Given the description of an element on the screen output the (x, y) to click on. 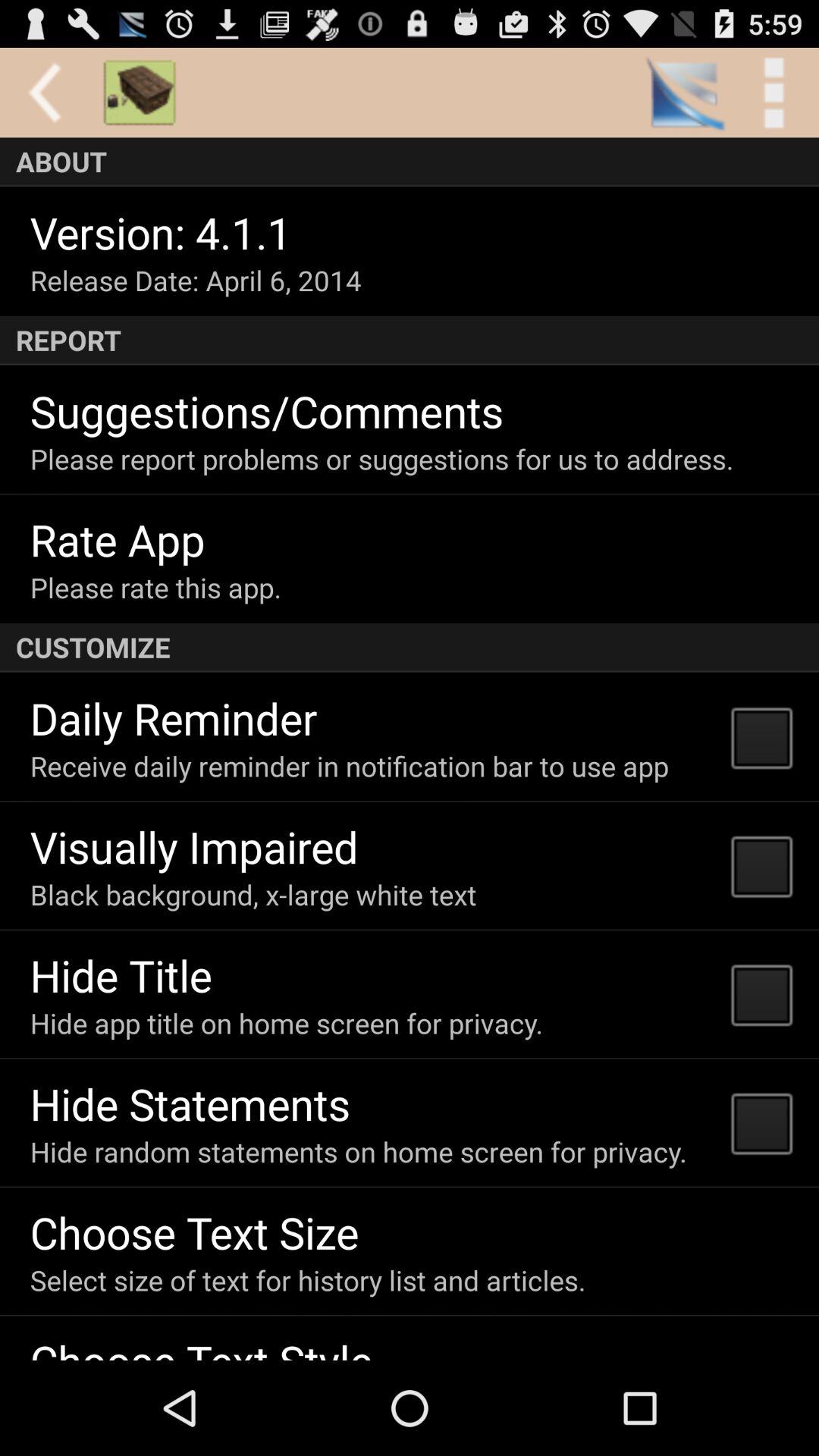
swipe to the release date april app (195, 280)
